Given the description of an element on the screen output the (x, y) to click on. 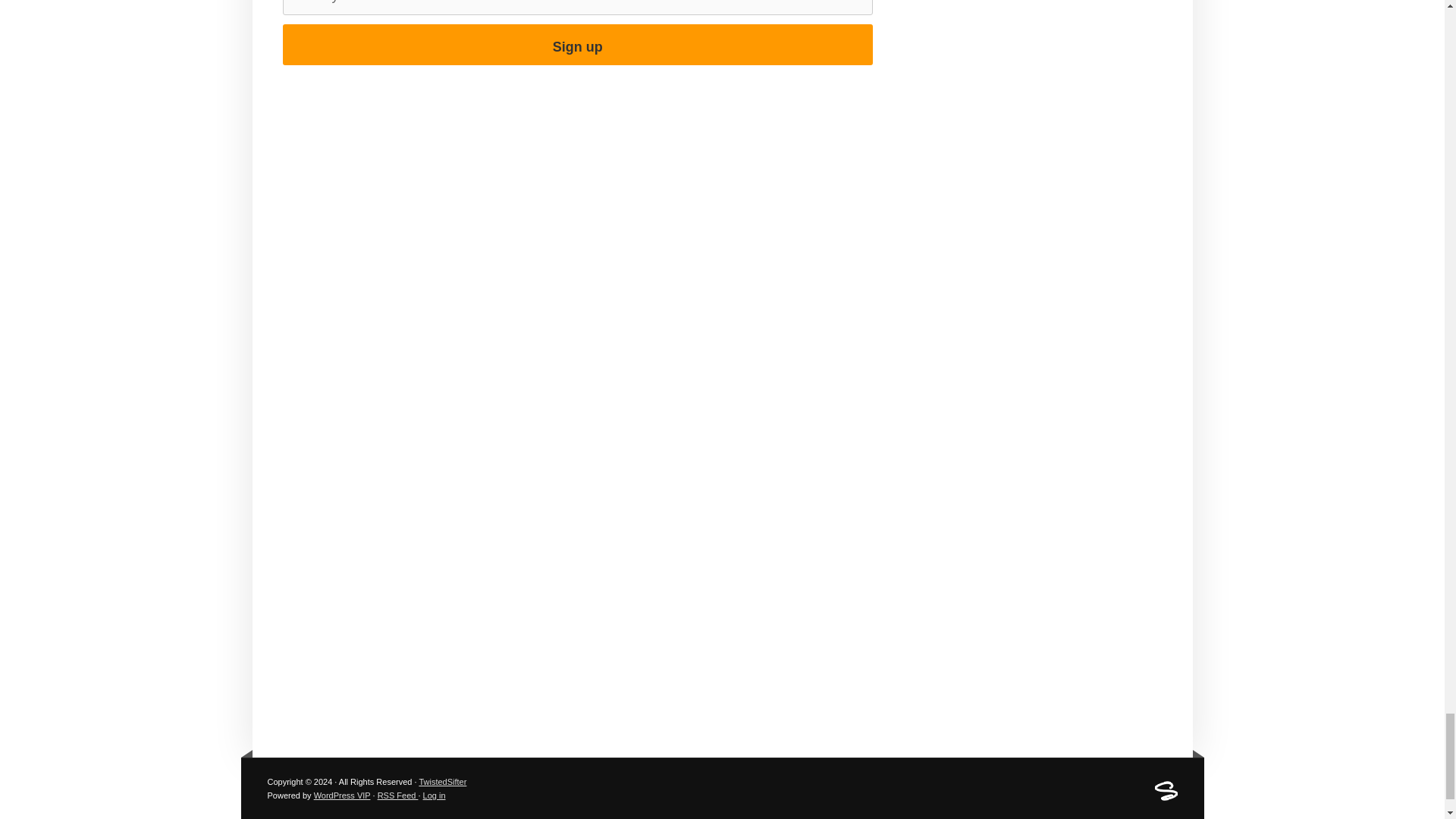
Feeling Sifty? (1165, 798)
Sign up (577, 44)
